Given the description of an element on the screen output the (x, y) to click on. 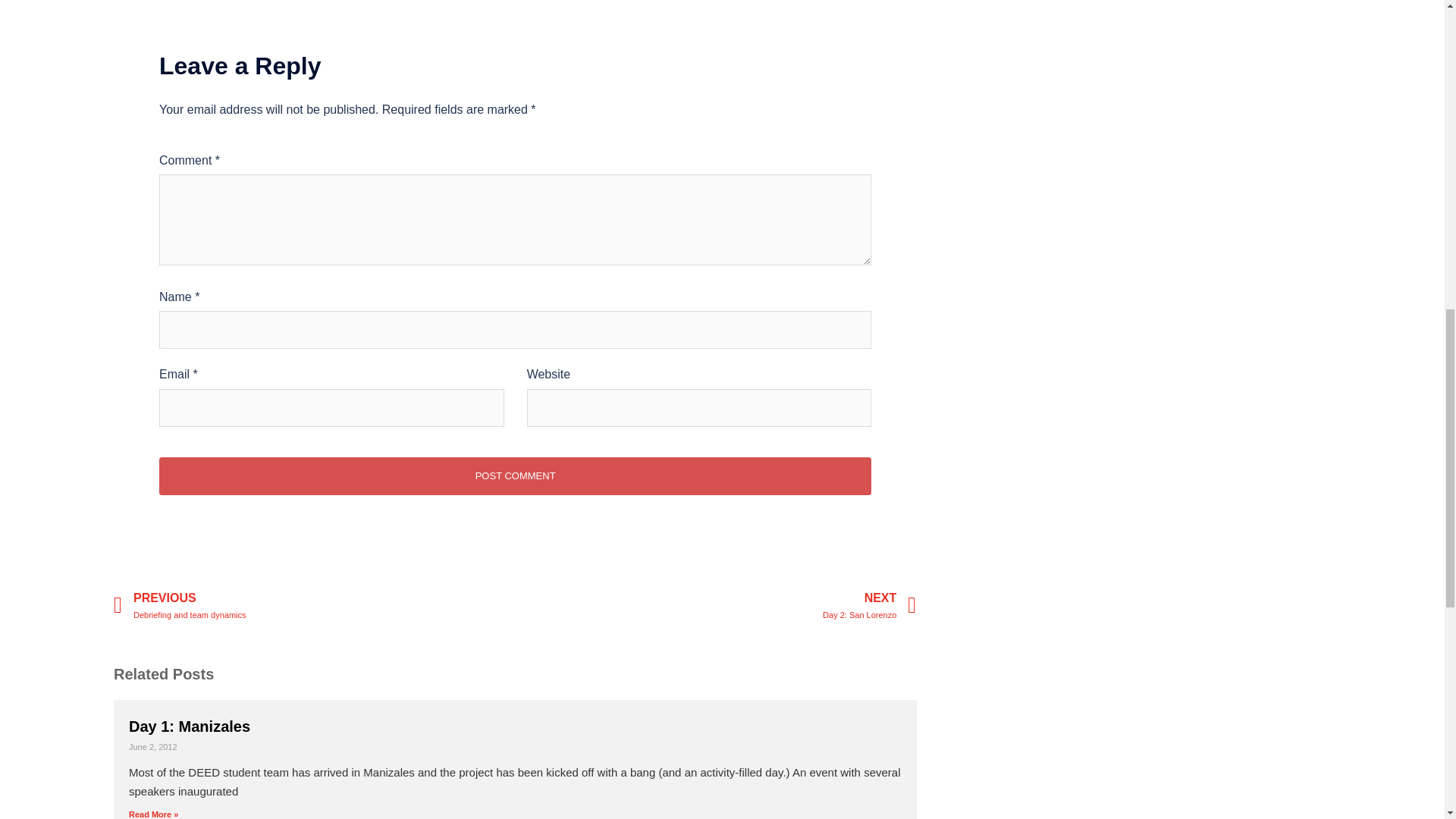
Post Comment (868, 605)
Post Comment (514, 476)
